Given the description of an element on the screen output the (x, y) to click on. 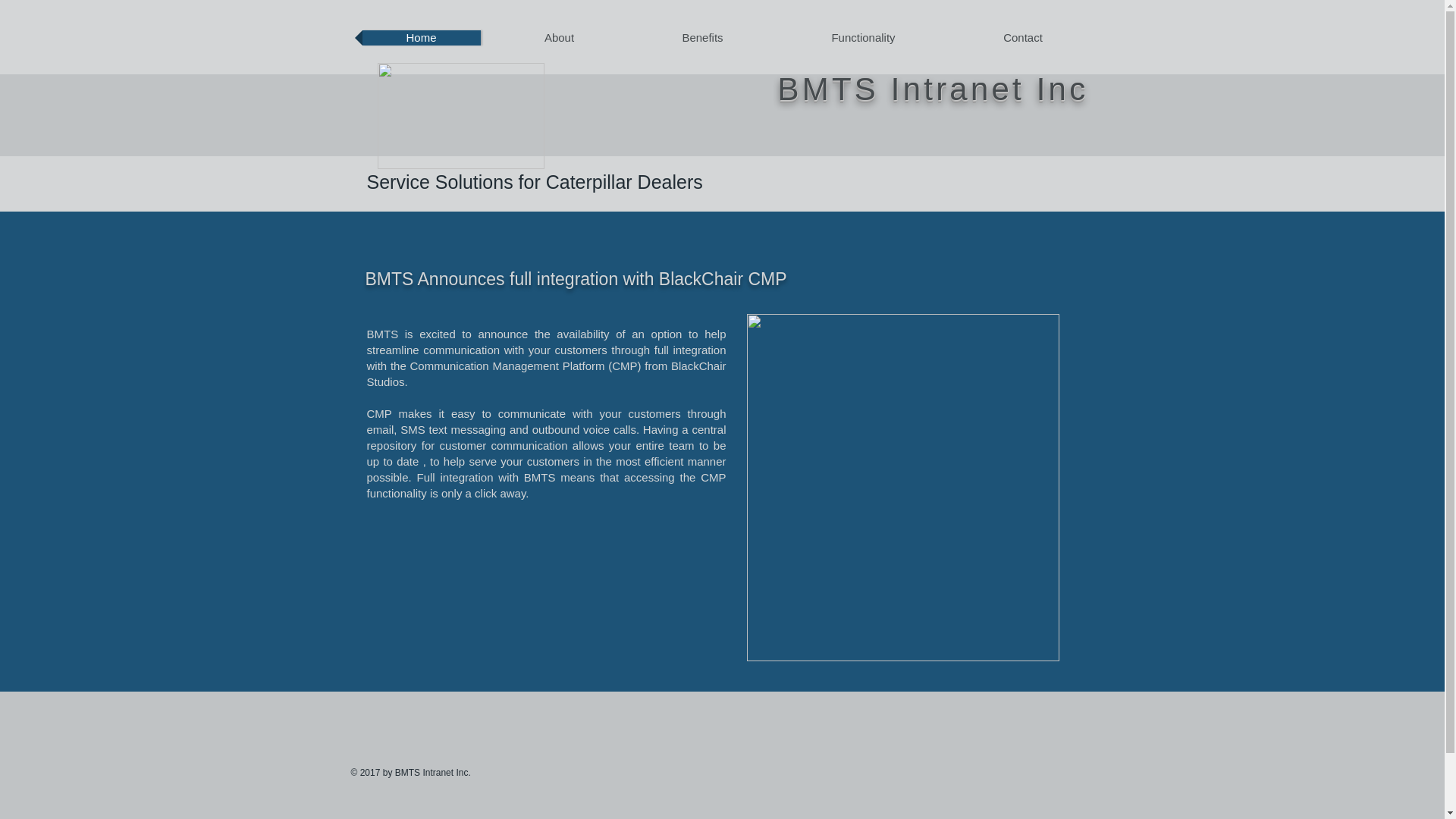
Benefits (702, 37)
Functionality (862, 37)
Contact (1023, 37)
About (559, 37)
BMTSLogo.png (460, 115)
Home (421, 37)
